Given the description of an element on the screen output the (x, y) to click on. 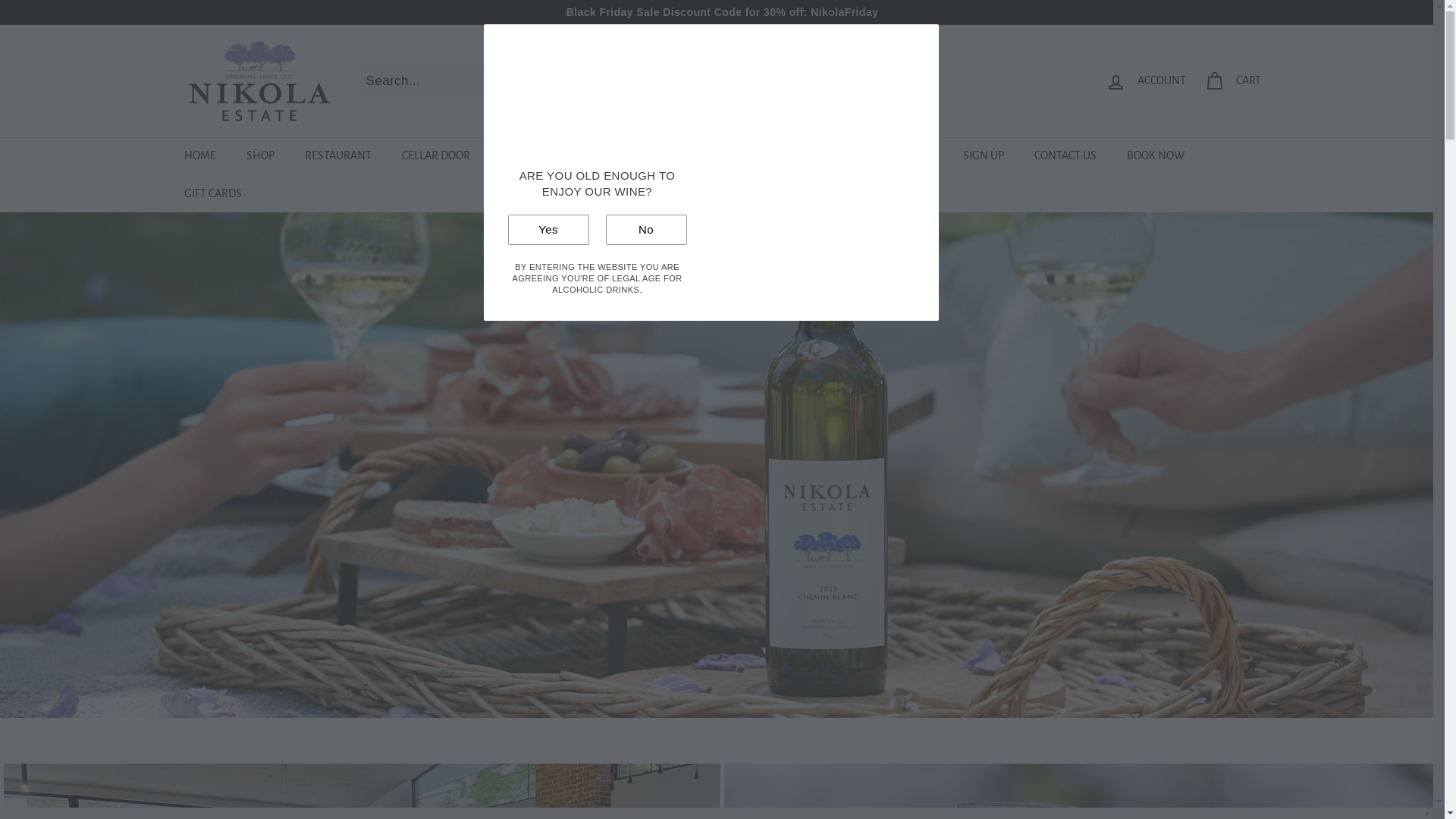
SIGN UP Element type: text (983, 156)
RESTAURANT Element type: text (337, 156)
GIFT CARDS Element type: text (212, 194)
HOME Element type: text (199, 156)
Yes Element type: text (548, 229)
CONTACT US Element type: text (1065, 156)
NEWS Element type: text (916, 156)
ACCOUNT Element type: text (1145, 81)
WEDDINGS & FUNCTIONS Element type: text (650, 156)
Skip to content Element type: text (0, 0)
OUR STORY Element type: text (772, 156)
WINE CLUB Element type: text (528, 156)
EVENTS Element type: text (850, 156)
BOOK NOW Element type: text (1155, 156)
No Element type: text (645, 229)
SHOP Element type: text (259, 156)
CELLAR DOOR Element type: text (435, 156)
